Given the description of an element on the screen output the (x, y) to click on. 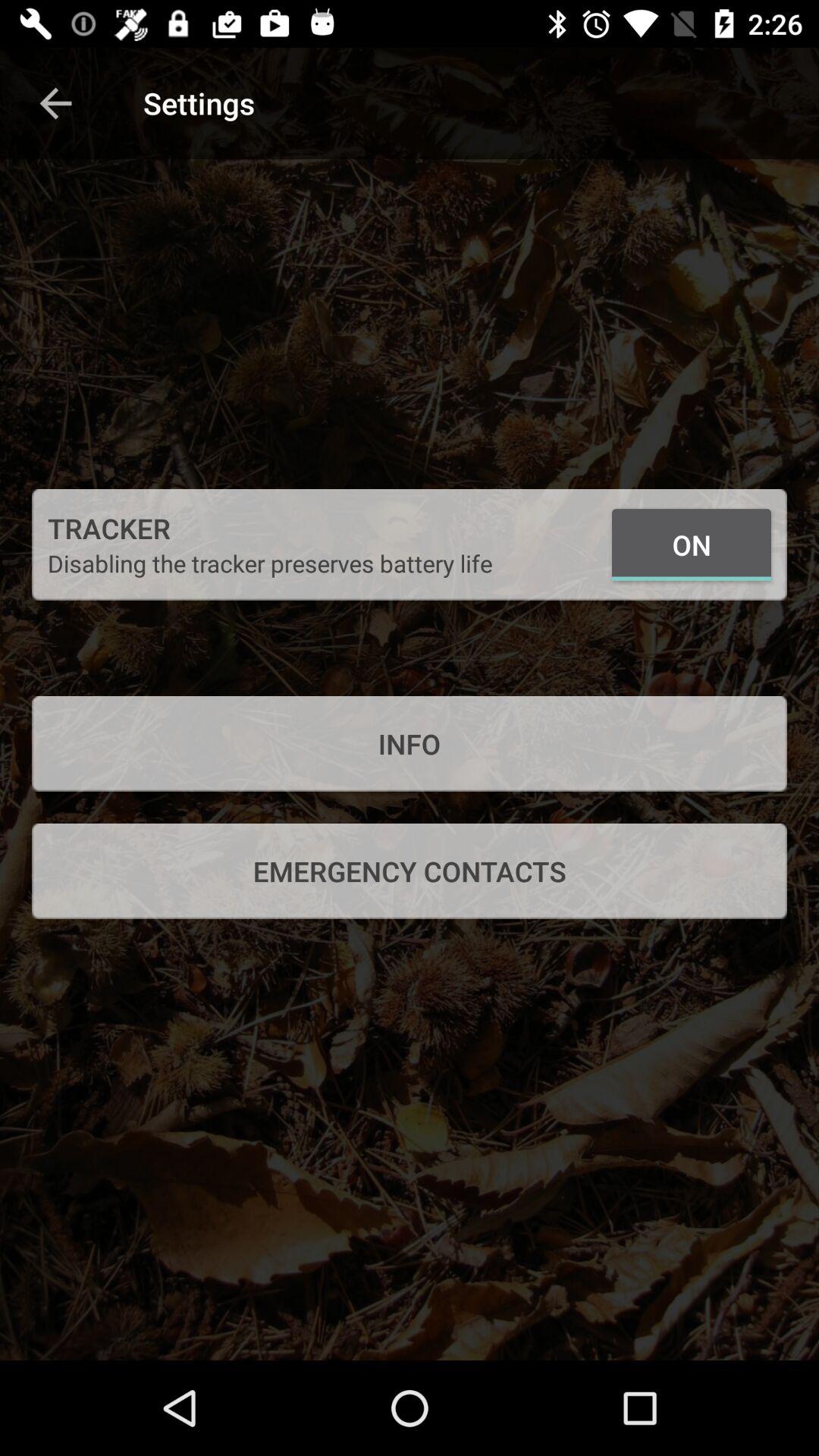
select emergency contacts item (409, 871)
